Given the description of an element on the screen output the (x, y) to click on. 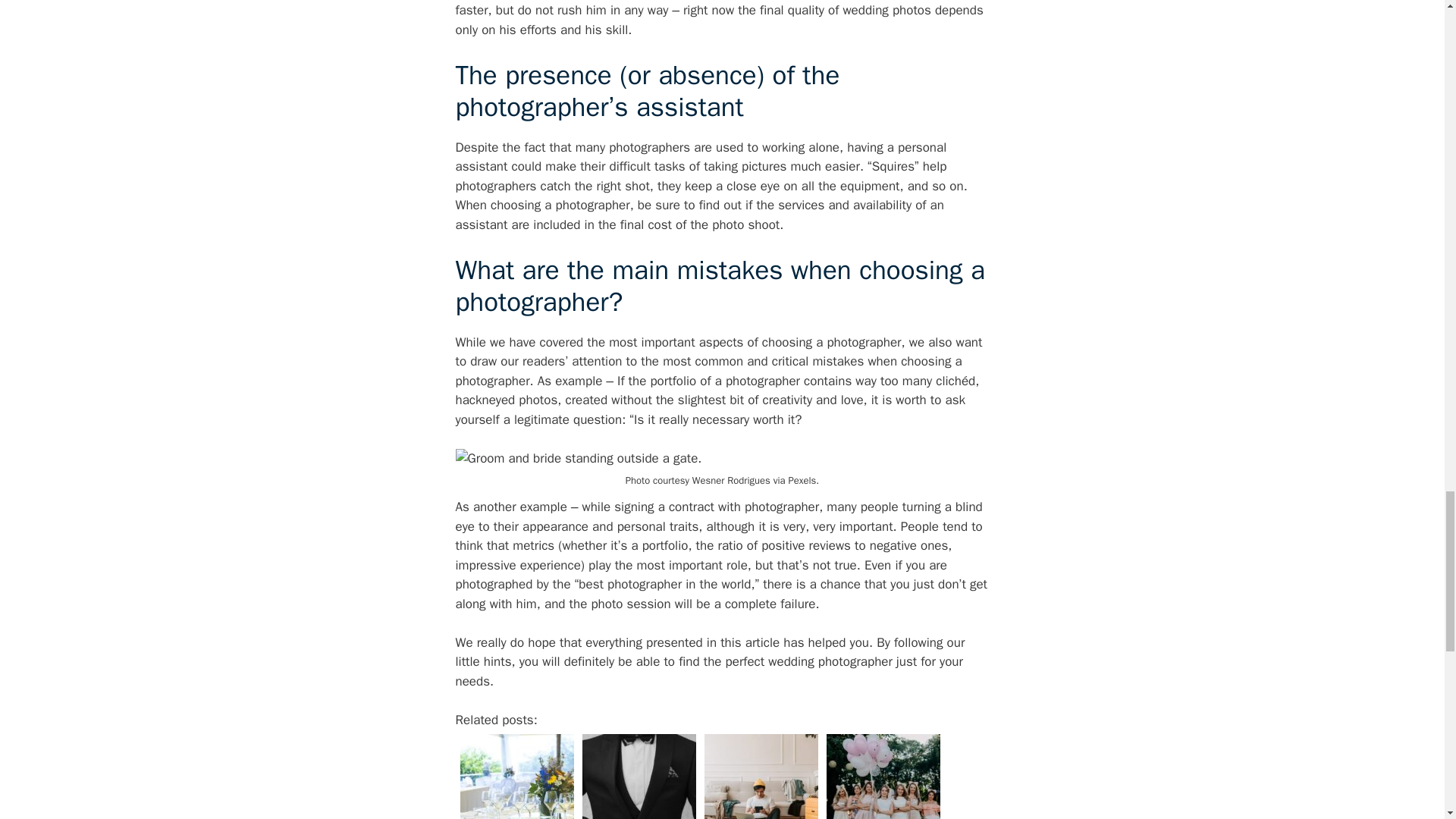
The Essential Guide to Renting a Tuxedo for Your Next Event (639, 774)
How to Decorate a Wedding Table in a Refined and Elegant Way (516, 774)
